Given the description of an element on the screen output the (x, y) to click on. 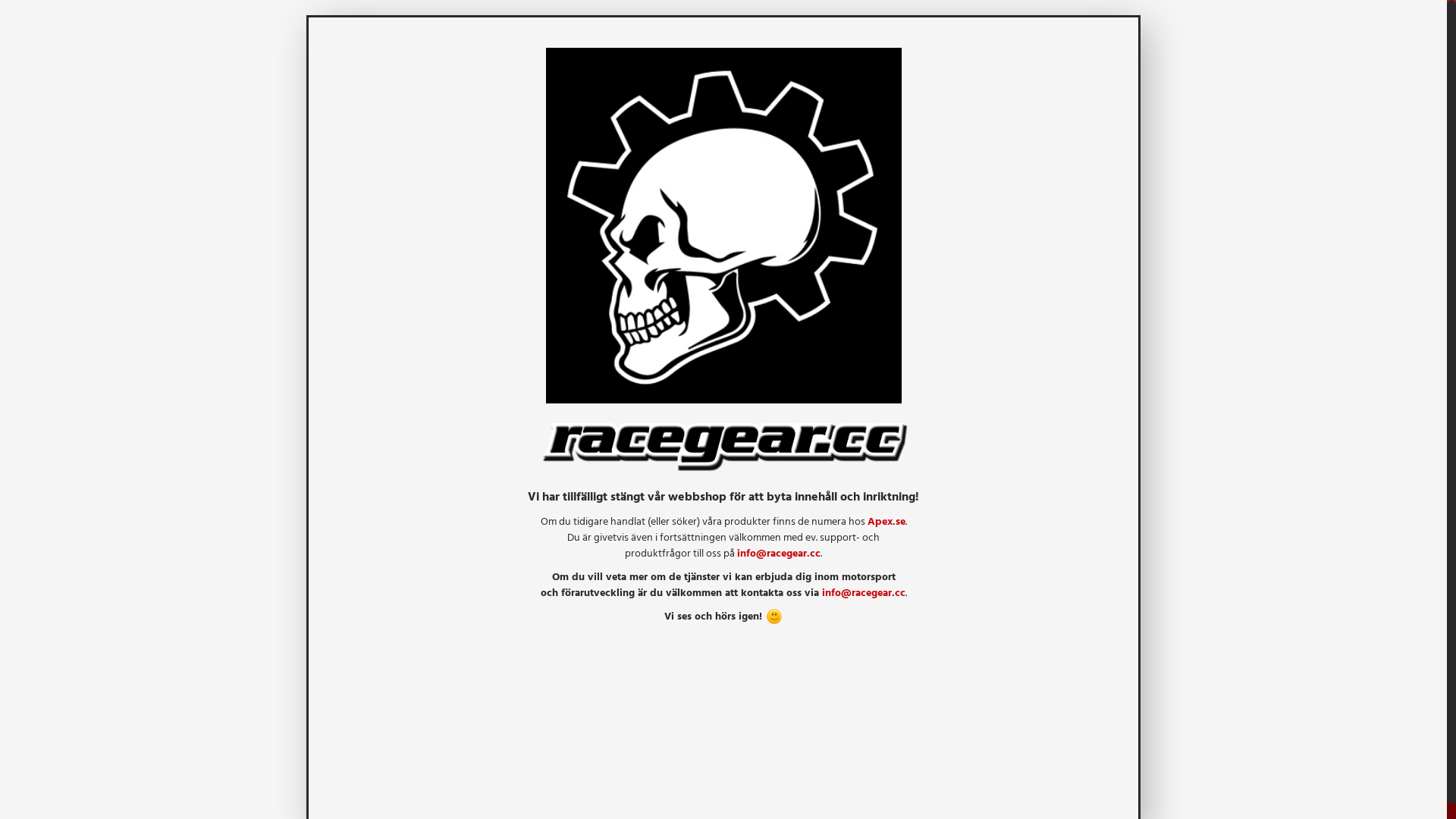
smiley Element type: hover (773, 616)
Apex.se Element type: text (886, 520)
info@racegear.cc Element type: text (778, 552)
info@racegear.cc Element type: text (863, 591)
